Given the description of an element on the screen output the (x, y) to click on. 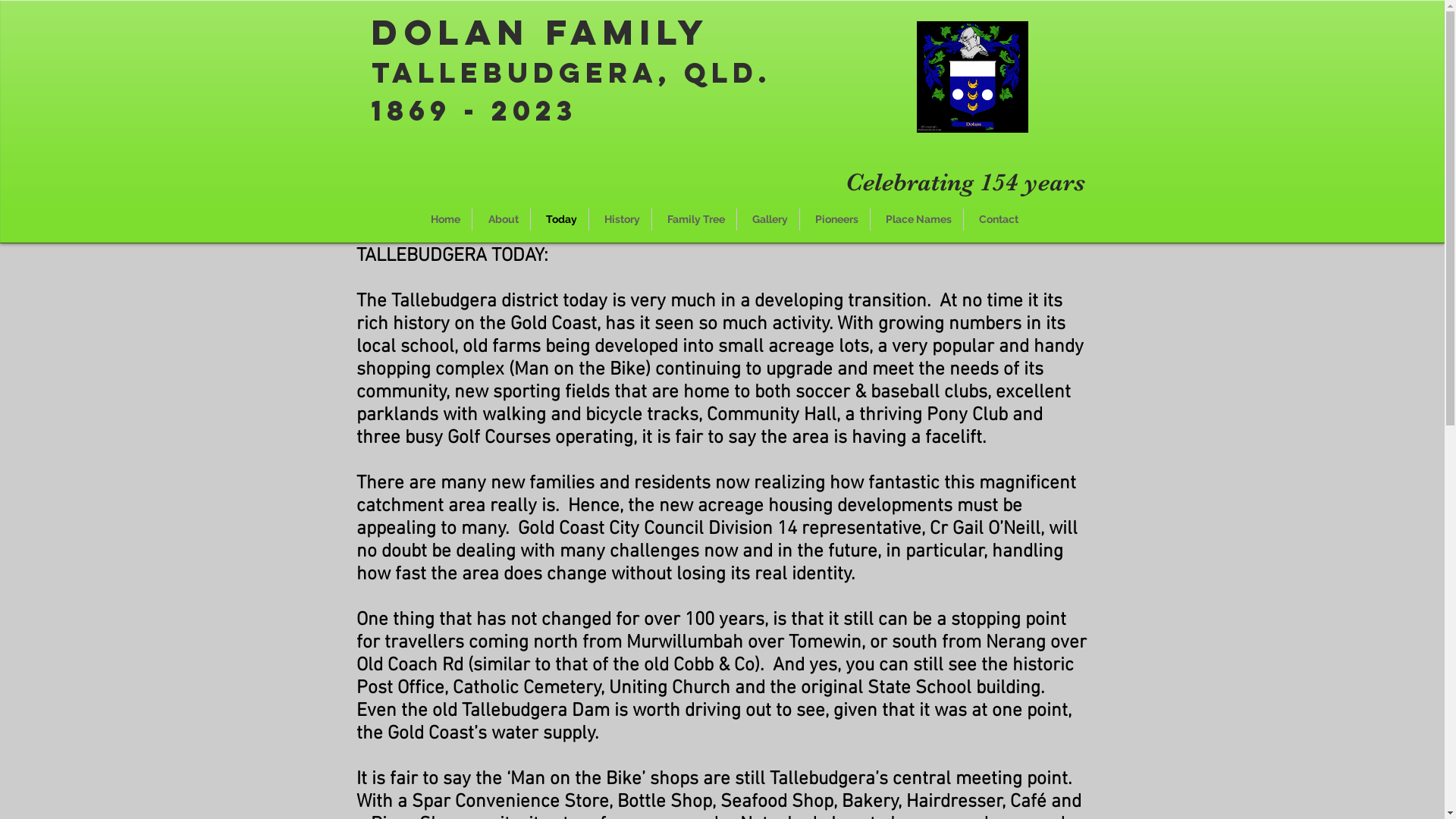
Contact Element type: text (996, 219)
Gallery Element type: text (768, 219)
About Element type: text (500, 219)
olan Element type: text (466, 31)
Home Element type: text (442, 219)
Today Element type: text (559, 219)
Family Tree Element type: text (694, 219)
Pioneers Element type: text (834, 219)
Place Names Element type: text (916, 219)
History Element type: text (619, 219)
